Given the description of an element on the screen output the (x, y) to click on. 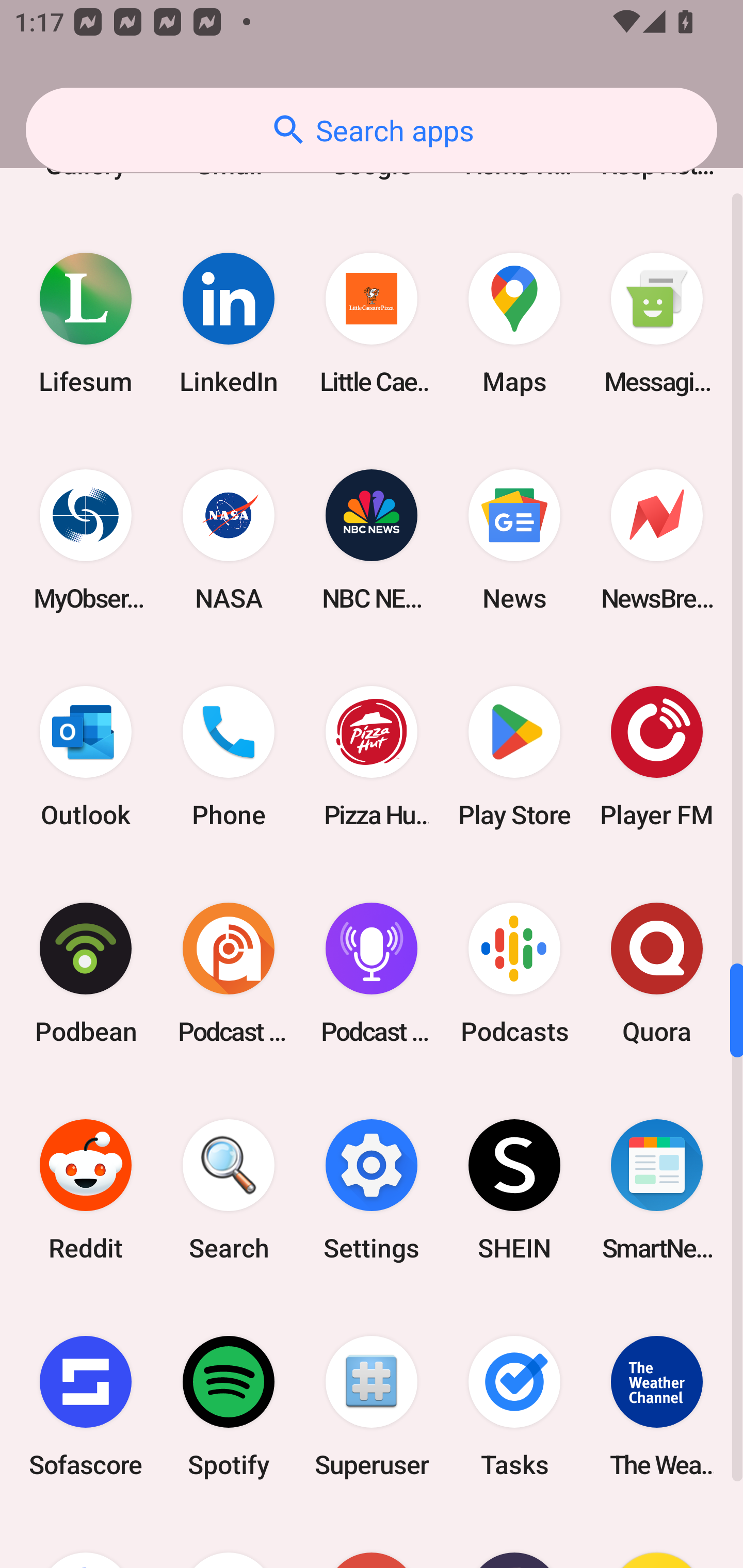
  Search apps (371, 130)
Lifesum (85, 322)
LinkedIn (228, 322)
Little Caesars Pizza (371, 322)
Maps (514, 322)
Messaging (656, 322)
MyObservatory (85, 539)
NASA (228, 539)
NBC NEWS (371, 539)
News (514, 539)
NewsBreak (656, 539)
Outlook (85, 756)
Phone (228, 756)
Pizza Hut HK & Macau (371, 756)
Play Store (514, 756)
Player FM (656, 756)
Podbean (85, 973)
Podcast Addict (228, 973)
Podcast Player (371, 973)
Podcasts (514, 973)
Quora (656, 973)
Reddit (85, 1189)
Search (228, 1189)
Settings (371, 1189)
SHEIN (514, 1189)
SmartNews (656, 1189)
Sofascore (85, 1406)
Spotify (228, 1406)
Superuser (371, 1406)
Tasks (514, 1406)
The Weather Channel (656, 1406)
